Given the description of an element on the screen output the (x, y) to click on. 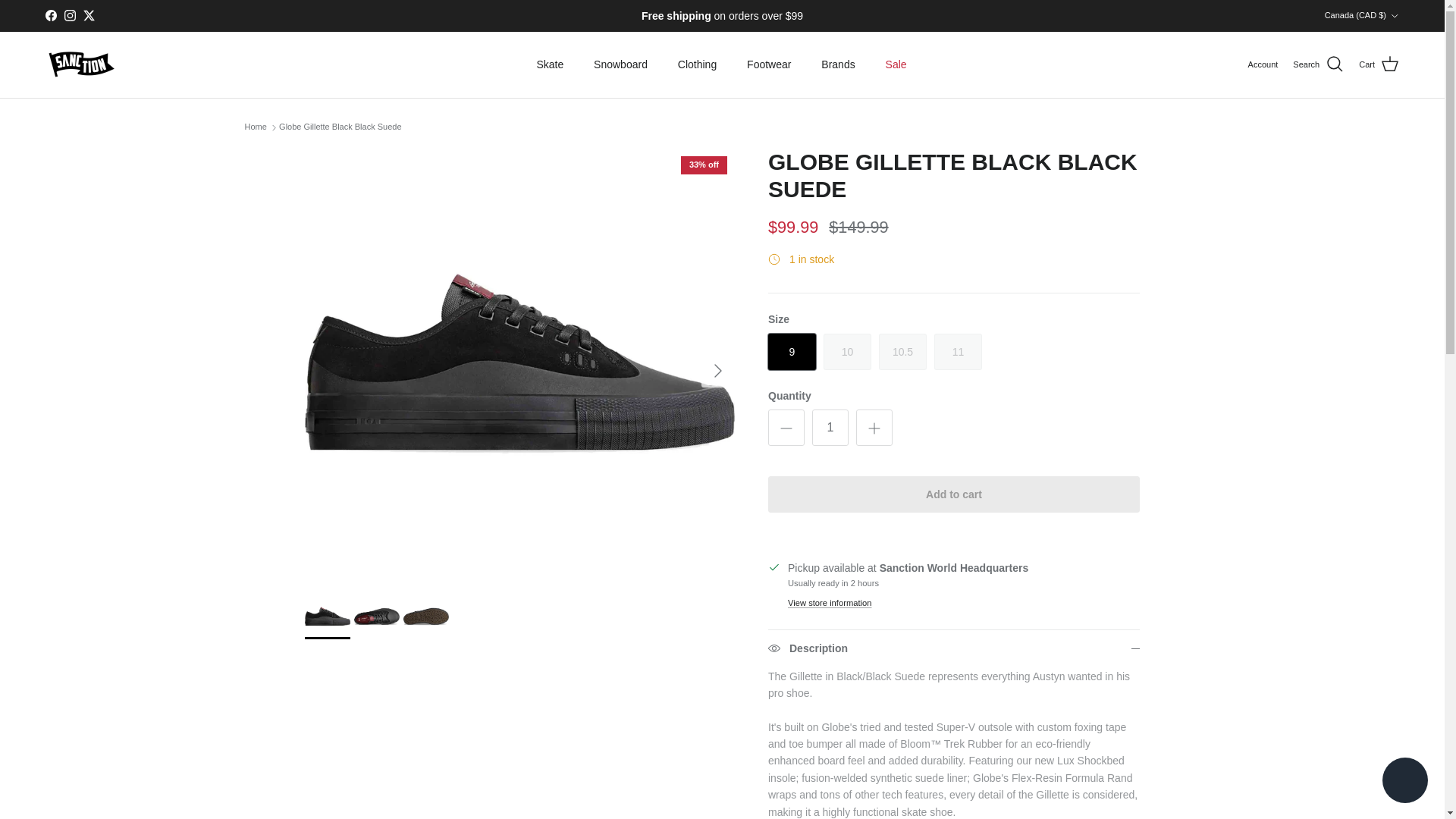
Footwear (769, 64)
Brands (837, 64)
Sanction Skate And Snow on Twitter (88, 15)
Cart (1378, 64)
Sanction Skate And Snow (81, 64)
Skate (549, 64)
Sold out (957, 351)
Account (1262, 65)
Twitter (88, 15)
Clothing (696, 64)
